Given the description of an element on the screen output the (x, y) to click on. 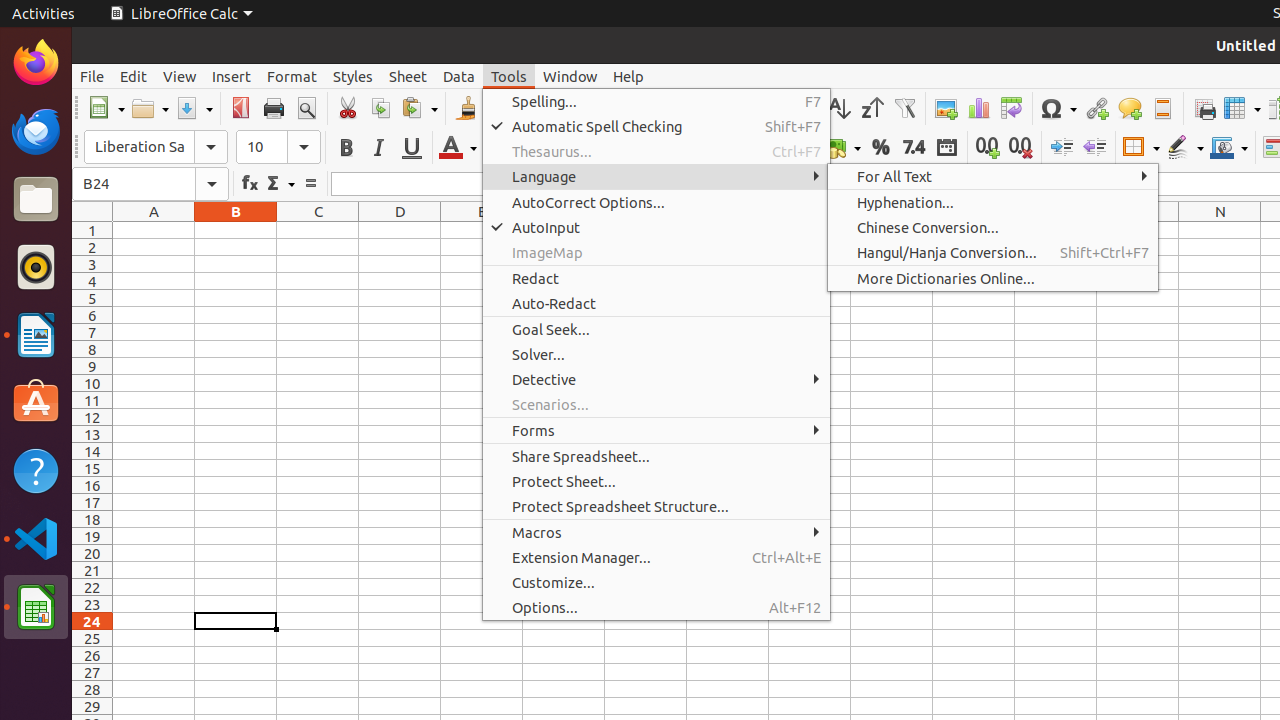
Font Size Element type: panel (278, 147)
Options... Element type: menu-item (656, 607)
N1 Element type: table-cell (1220, 230)
Window Element type: menu (570, 76)
